Given the description of an element on the screen output the (x, y) to click on. 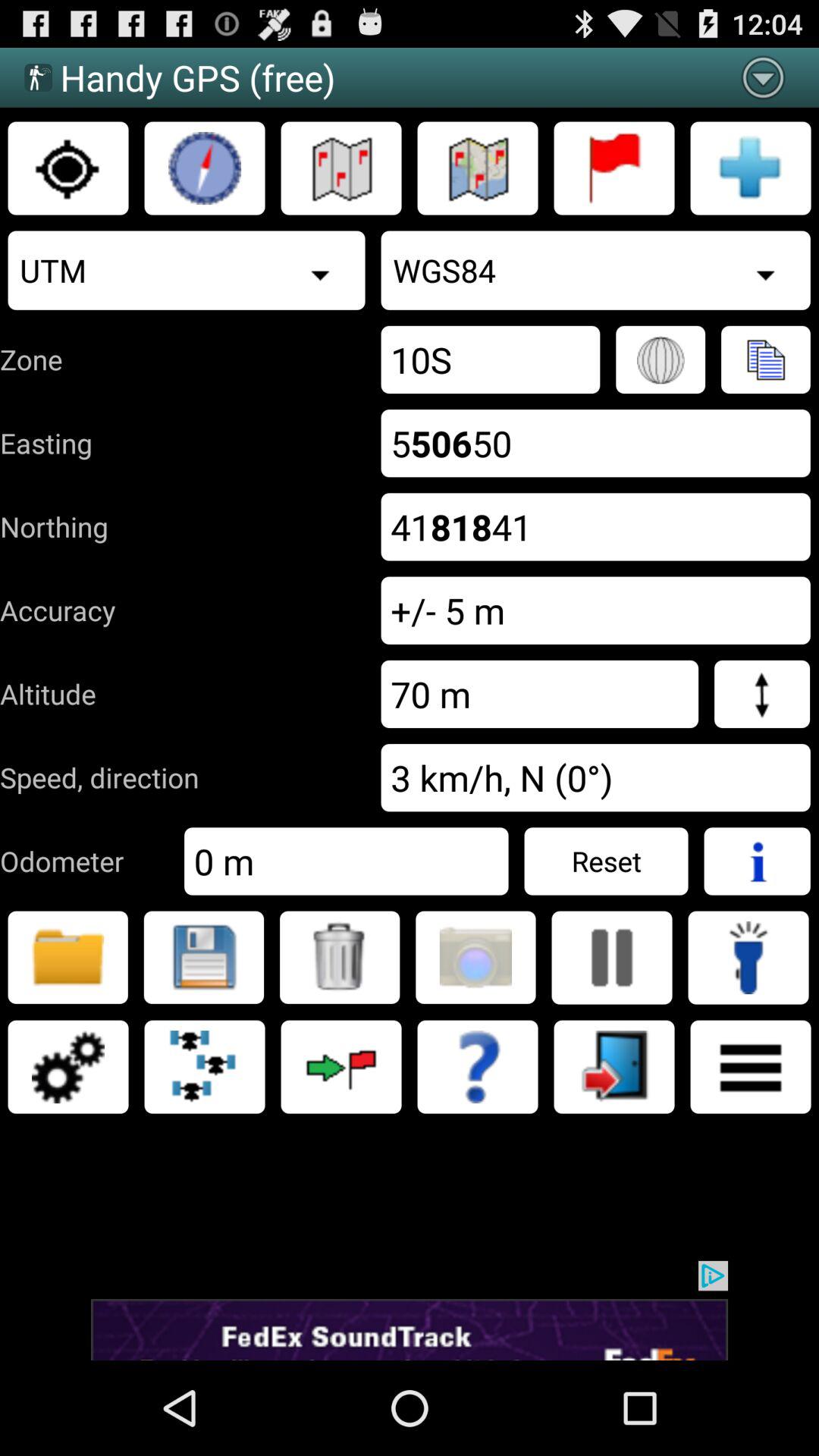
save (203, 957)
